Given the description of an element on the screen output the (x, y) to click on. 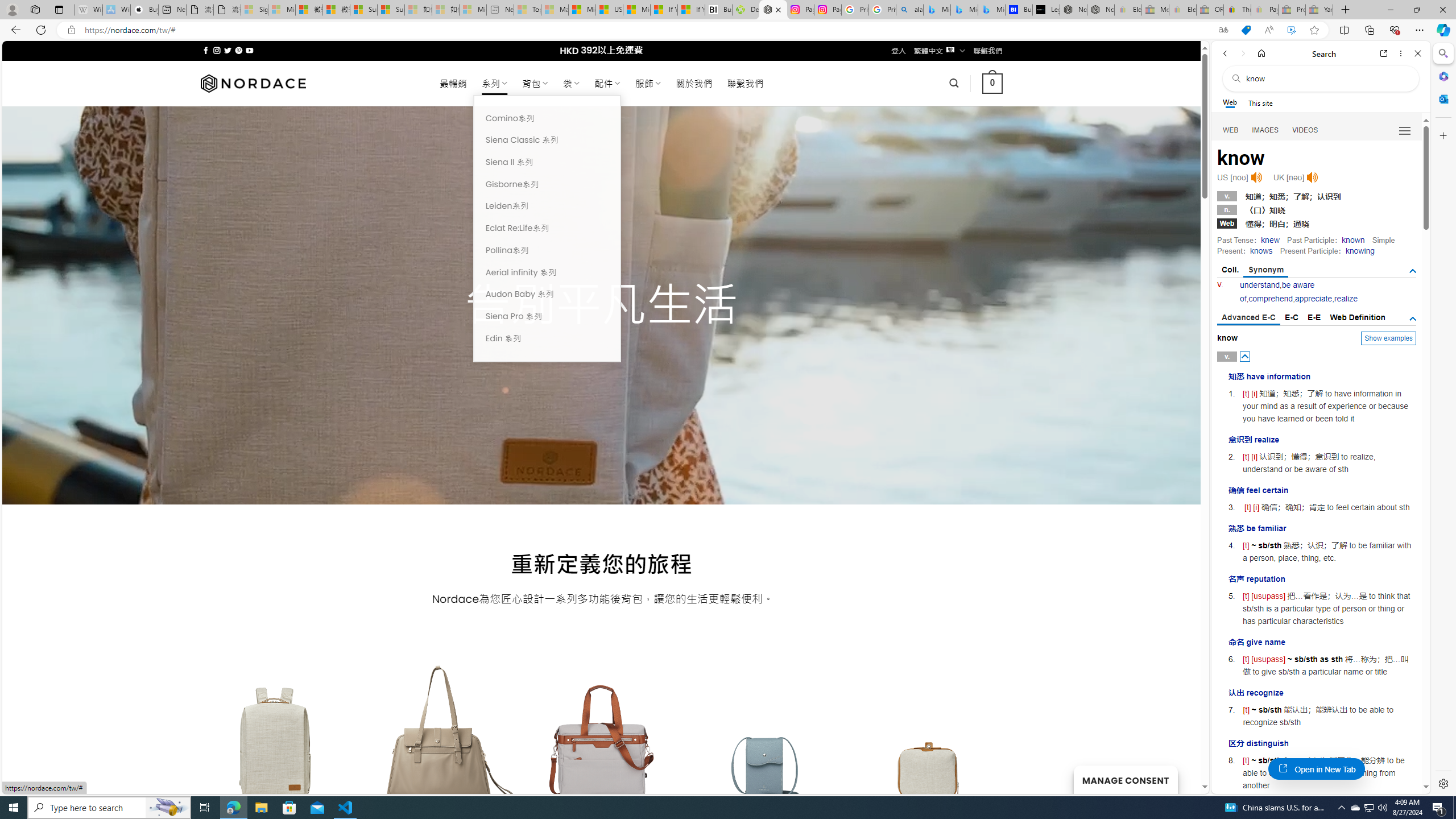
Click to listen (1312, 177)
Microsoft Bing Travel - Shangri-La Hotel Bangkok (991, 9)
Show translate options (1222, 29)
Web scope (1230, 102)
Follow on Twitter (227, 50)
Search the web (1326, 78)
realize (1345, 298)
 0  (992, 83)
